Given the description of an element on the screen output the (x, y) to click on. 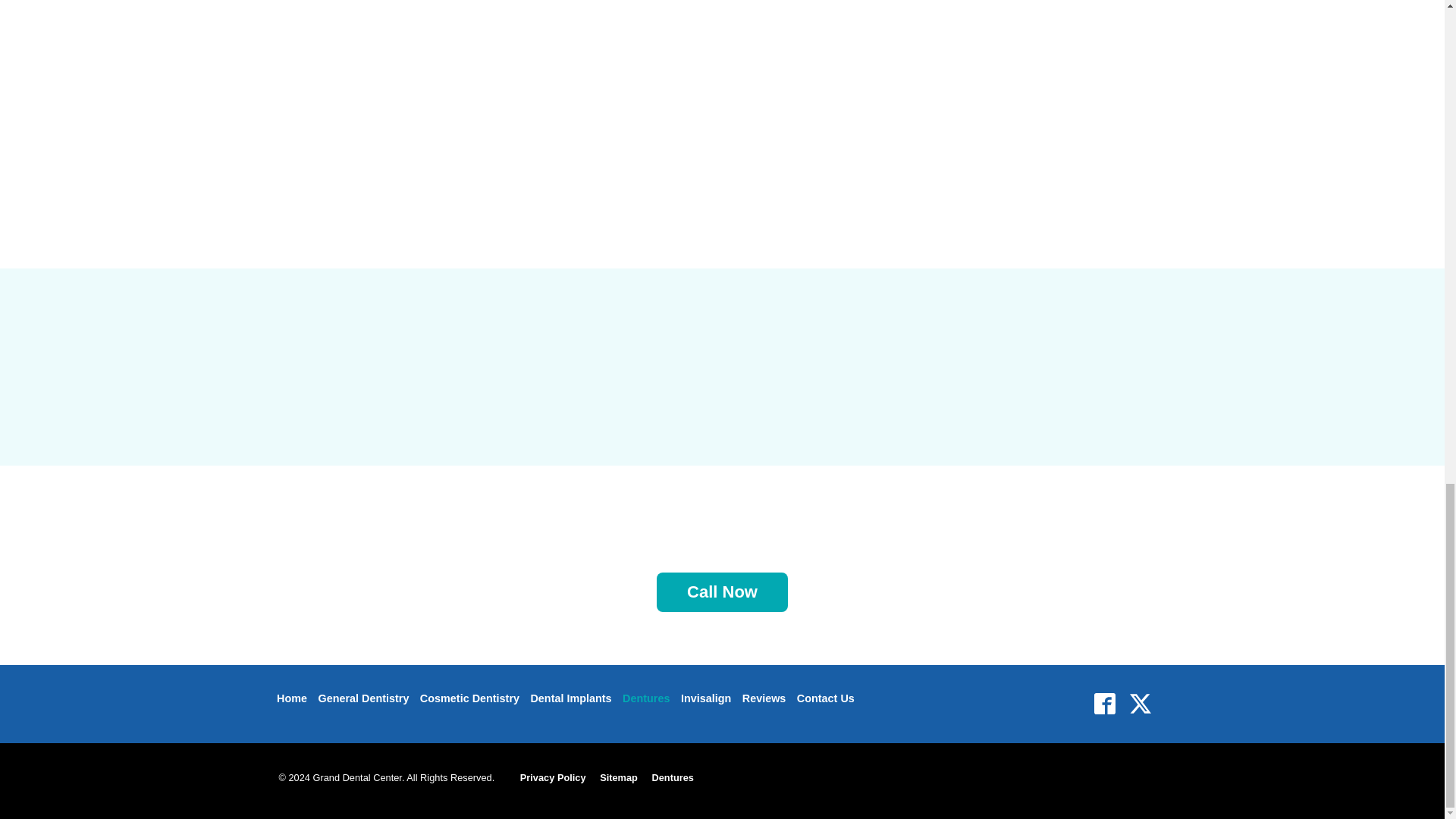
Dentures (645, 698)
facebook (1104, 703)
Dental Implants (569, 698)
General Dentistry (363, 698)
Cosmetic Dentistry (469, 698)
Call Now (721, 591)
Home (292, 698)
twitter (1140, 703)
